Given the description of an element on the screen output the (x, y) to click on. 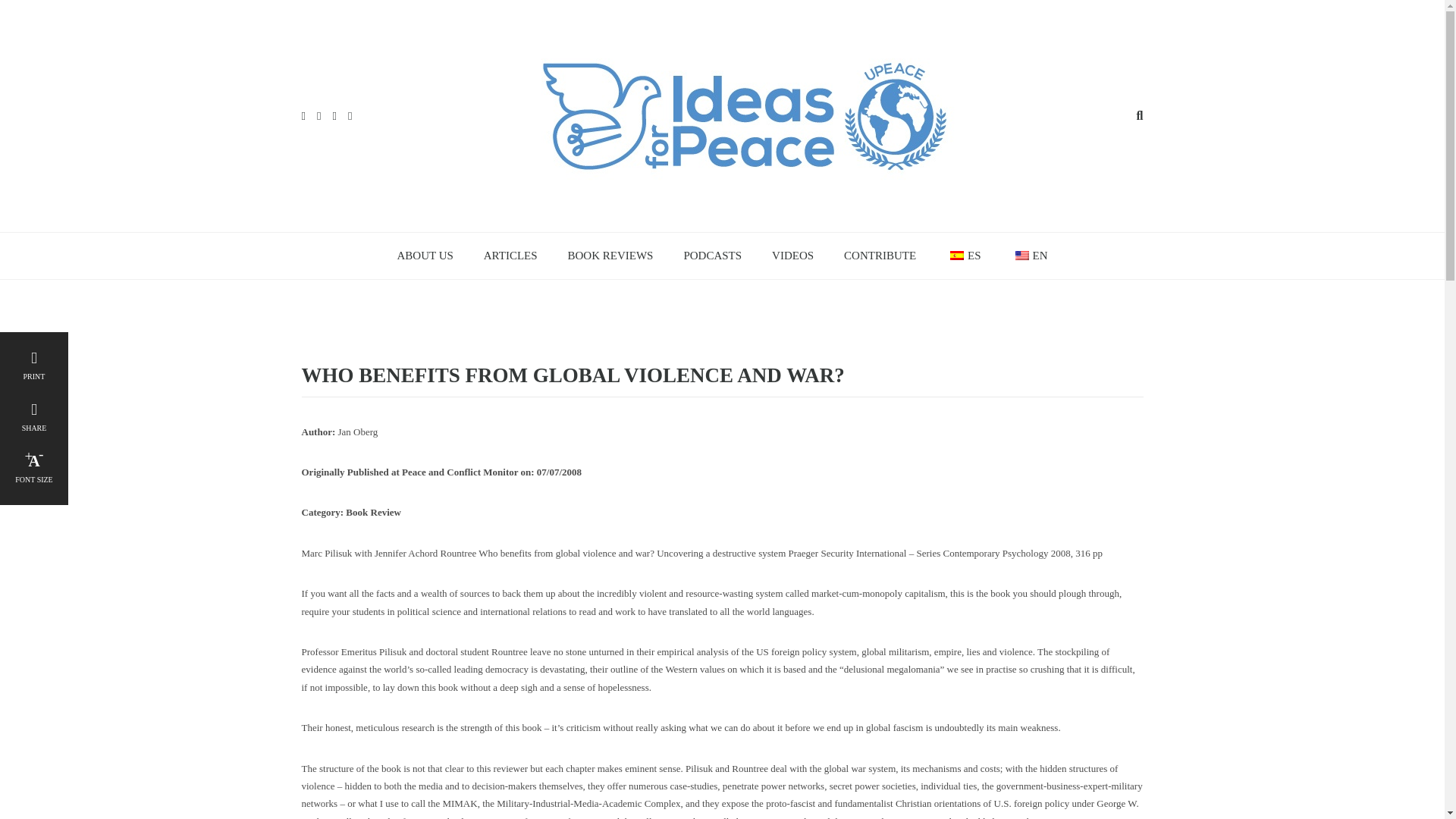
BOOK REVIEWS (610, 255)
PODCASTS (712, 255)
Ideas for Peace (744, 114)
English (1021, 255)
Instagram (333, 114)
ES (963, 255)
Twitter (318, 114)
CONTRIBUTE (879, 255)
Facebook (303, 114)
RSS (349, 114)
EN (1028, 255)
VIDEOS (792, 255)
ARTICLES (510, 255)
ABOUT US (424, 255)
